Given the description of an element on the screen output the (x, y) to click on. 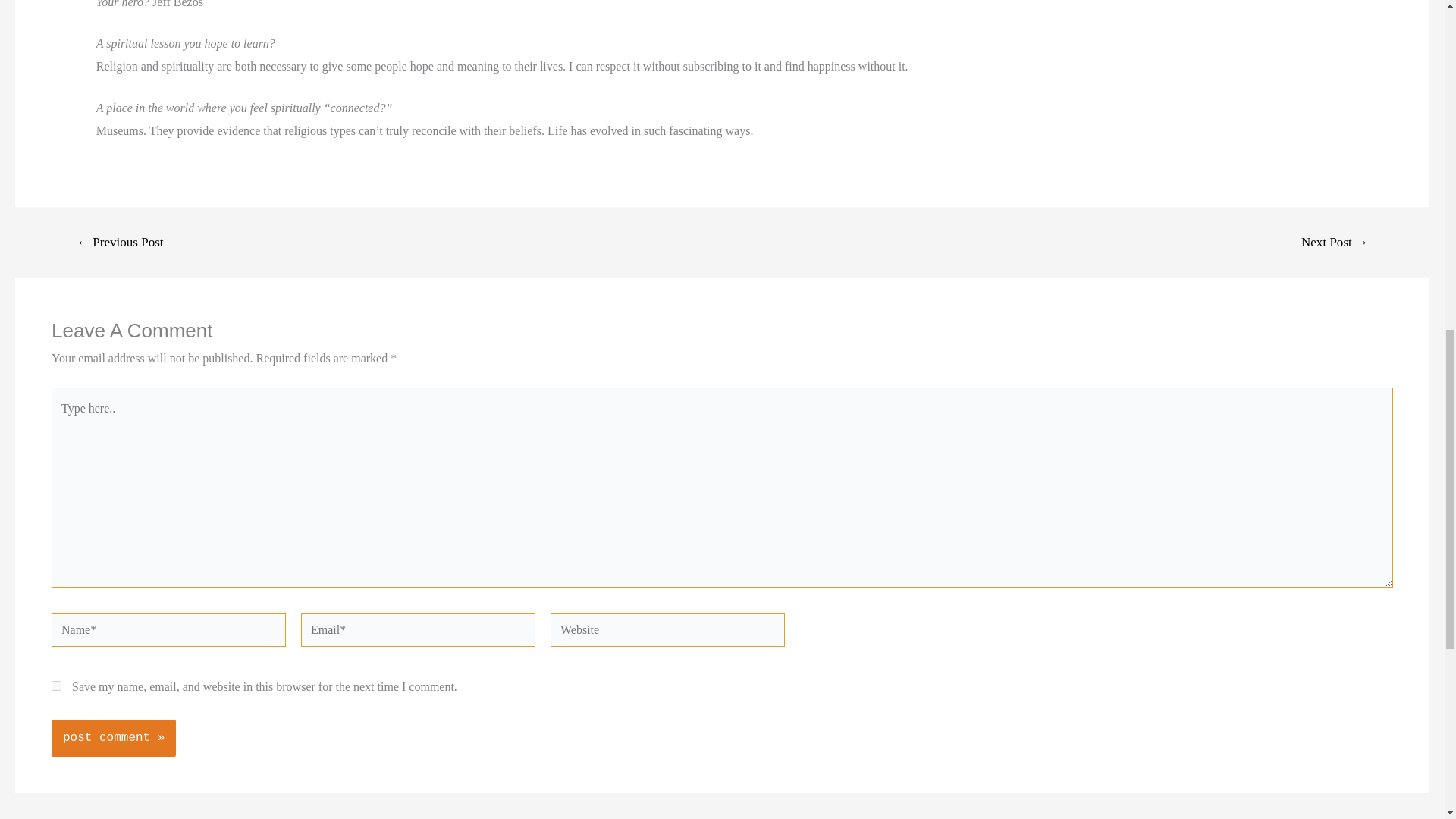
yes (55, 685)
